Given the description of an element on the screen output the (x, y) to click on. 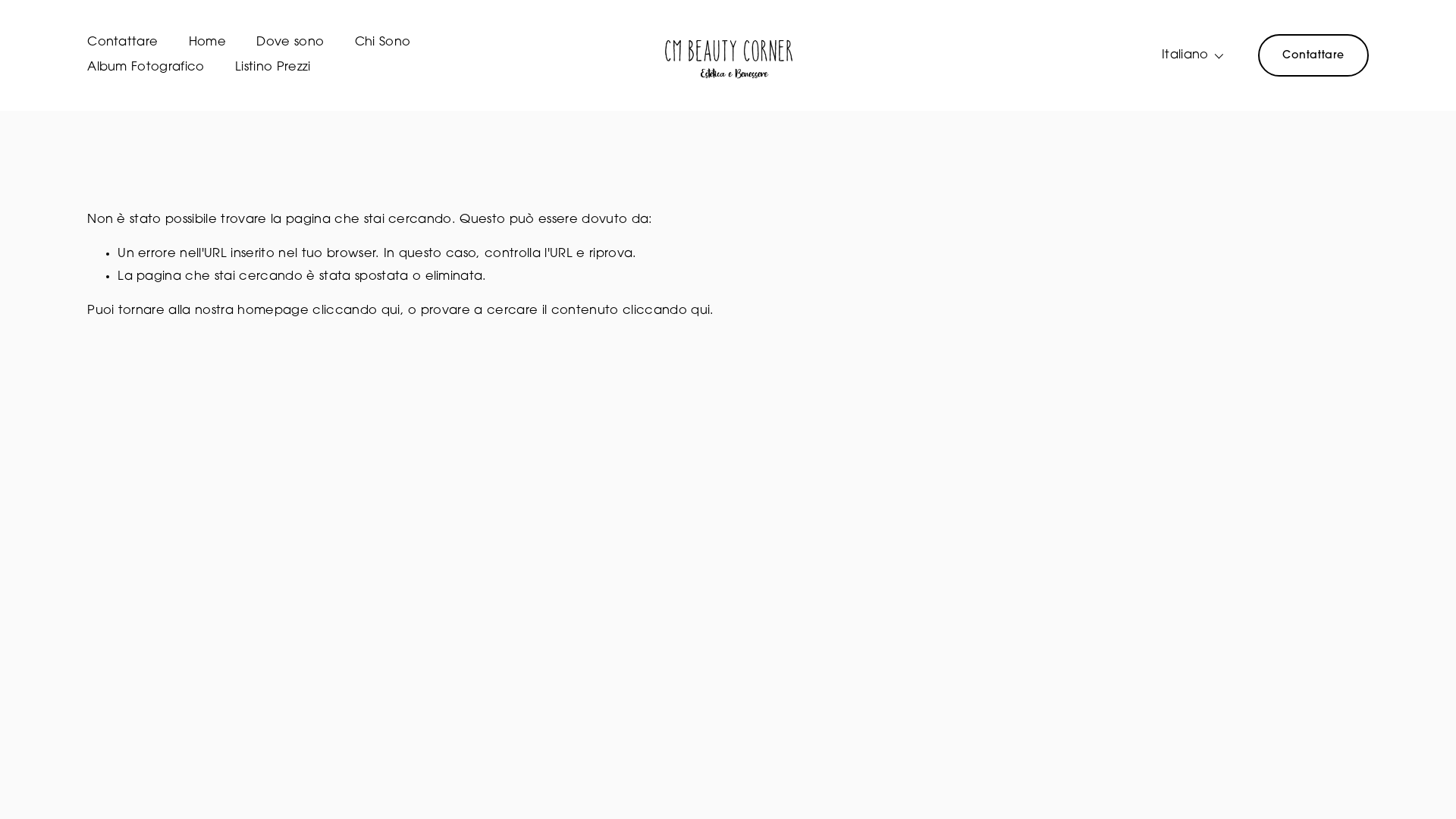
cliccando qui Element type: text (665, 310)
Album Fotografico Element type: text (145, 67)
Contattare Element type: text (122, 43)
Listino Prezzi Element type: text (272, 67)
cliccando qui Element type: text (355, 310)
Chi Sono Element type: text (382, 43)
Contattare Element type: text (1313, 54)
Dove sono Element type: text (289, 43)
Home Element type: text (206, 43)
